Given the description of an element on the screen output the (x, y) to click on. 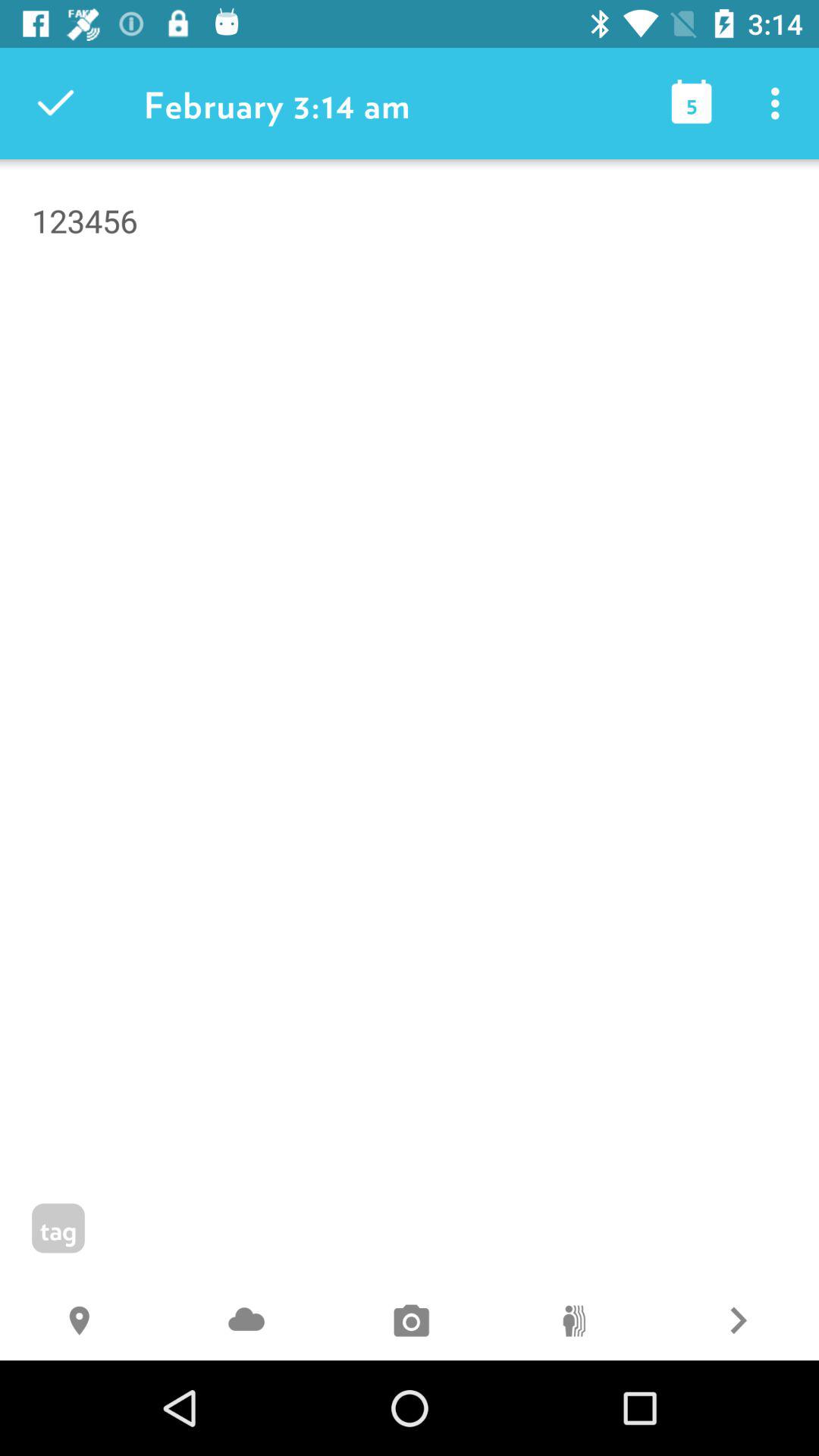
turn on icon next to february 3 14 icon (55, 103)
